Given the description of an element on the screen output the (x, y) to click on. 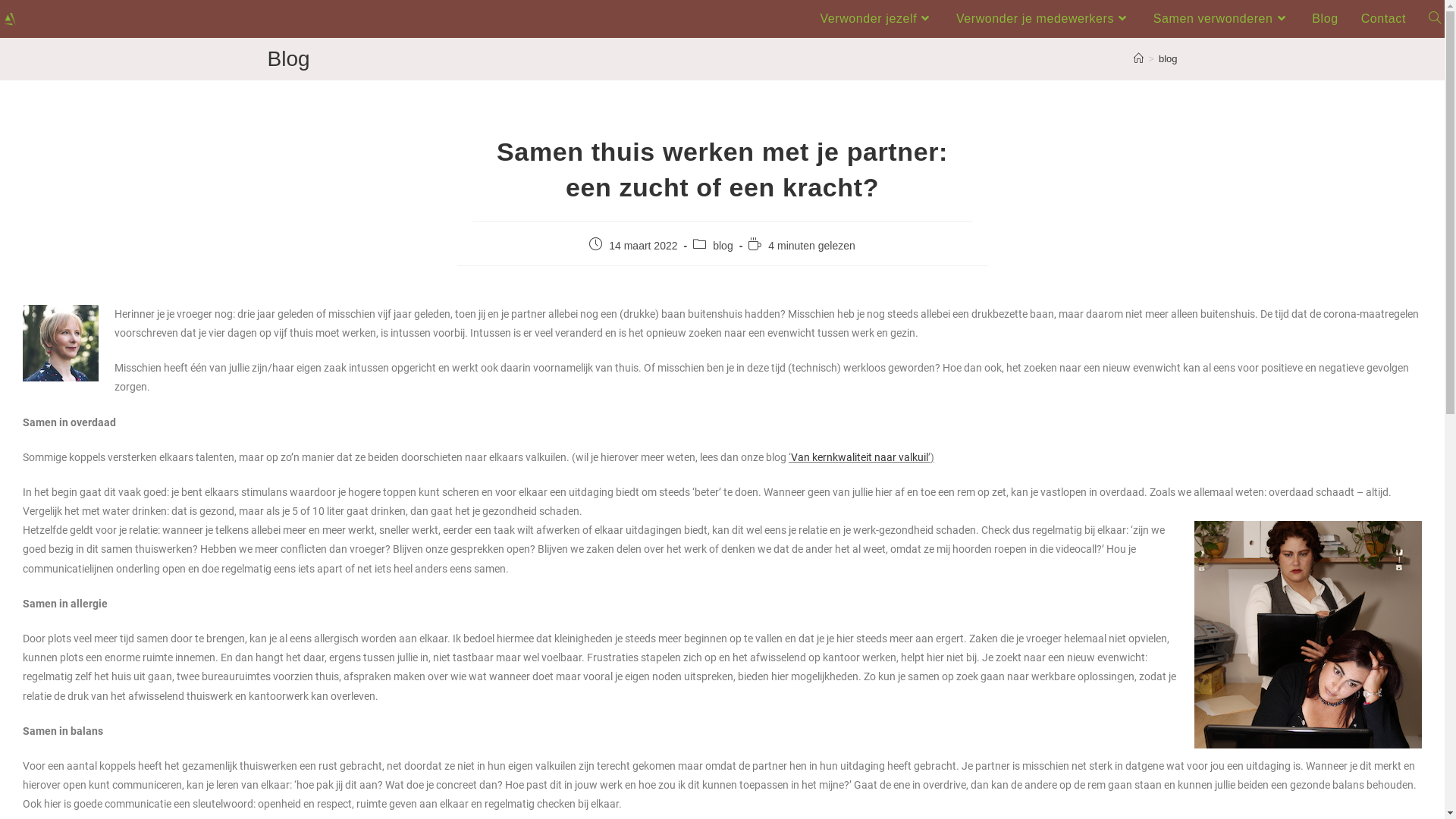
blog Element type: text (1167, 58)
Van kernkwaliteit naar valkuil Element type: text (859, 457)
blog Element type: text (722, 245)
Verwonder je medewerkers Element type: text (1043, 18)
Samen verwonderen Element type: text (1221, 18)
Blog Element type: text (1324, 18)
Contact Element type: text (1383, 18)
Verwonder jezelf Element type: text (876, 18)
